Given the description of an element on the screen output the (x, y) to click on. 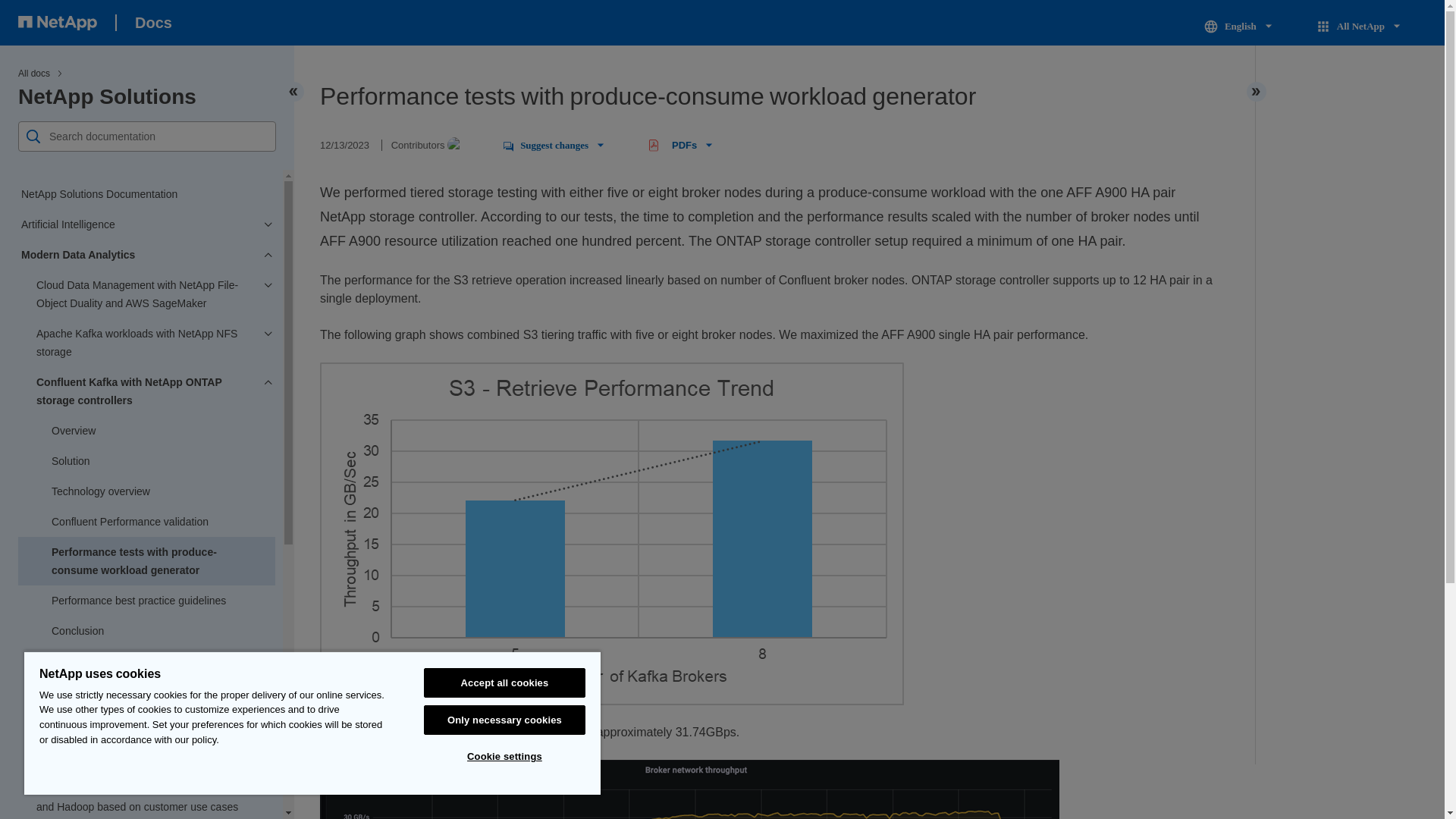
NetApp Solutions Documentation (146, 194)
All docs (33, 72)
Docs (153, 22)
Artificial Intelligence (146, 224)
